Given the description of an element on the screen output the (x, y) to click on. 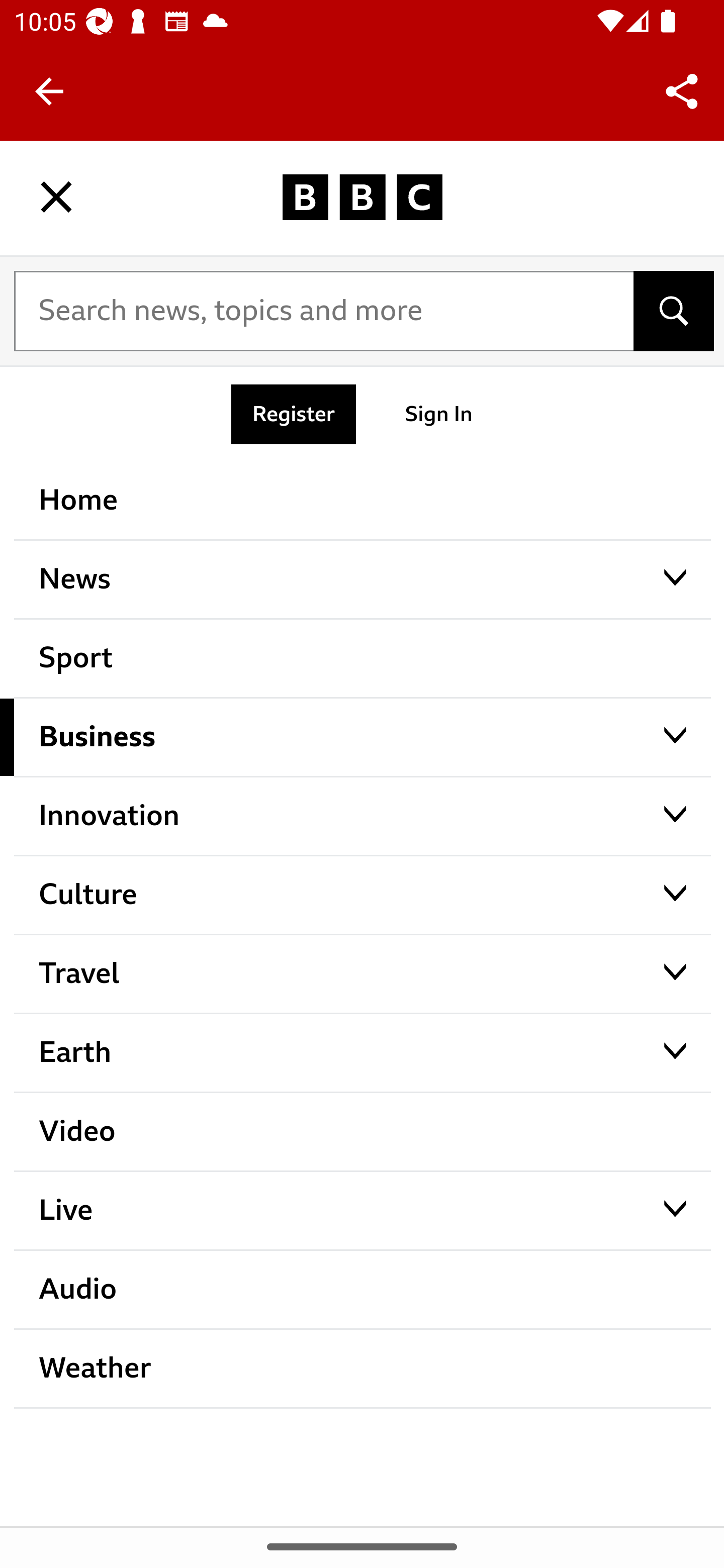
Back (49, 91)
Share (681, 90)
www.bbc (362, 196)
Register (293, 413)
Sign In (438, 413)
Home (362, 499)
News (362, 579)
Sport (362, 658)
Business (362, 736)
Business (362, 811)
Innovation (362, 889)
Travel (362, 973)
Earth (362, 1051)
Video (362, 1131)
Live (362, 1210)
Audio (362, 1288)
Weather (362, 1368)
